Given the description of an element on the screen output the (x, y) to click on. 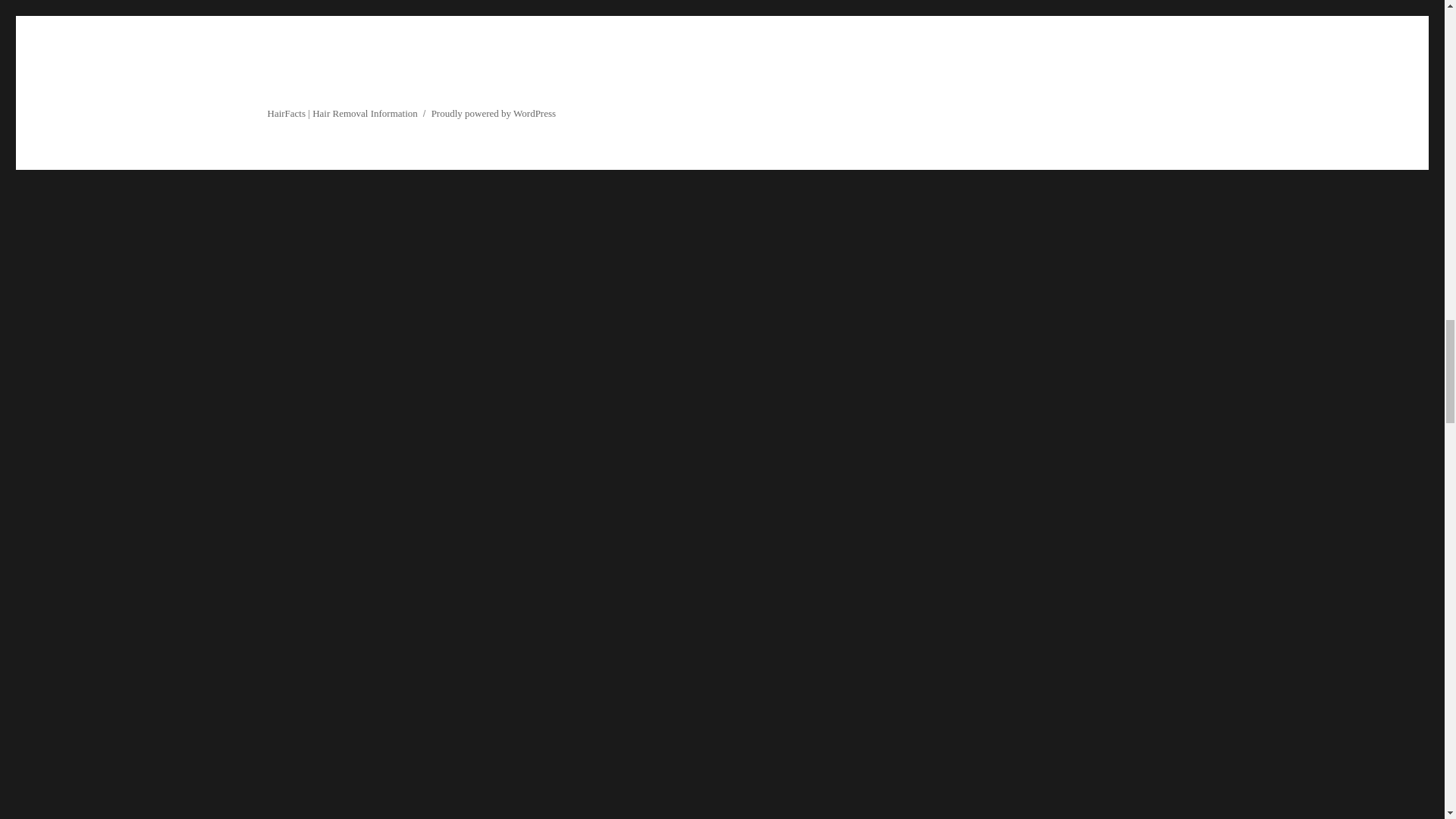
Subscribe to posts (638, 7)
